Given the description of an element on the screen output the (x, y) to click on. 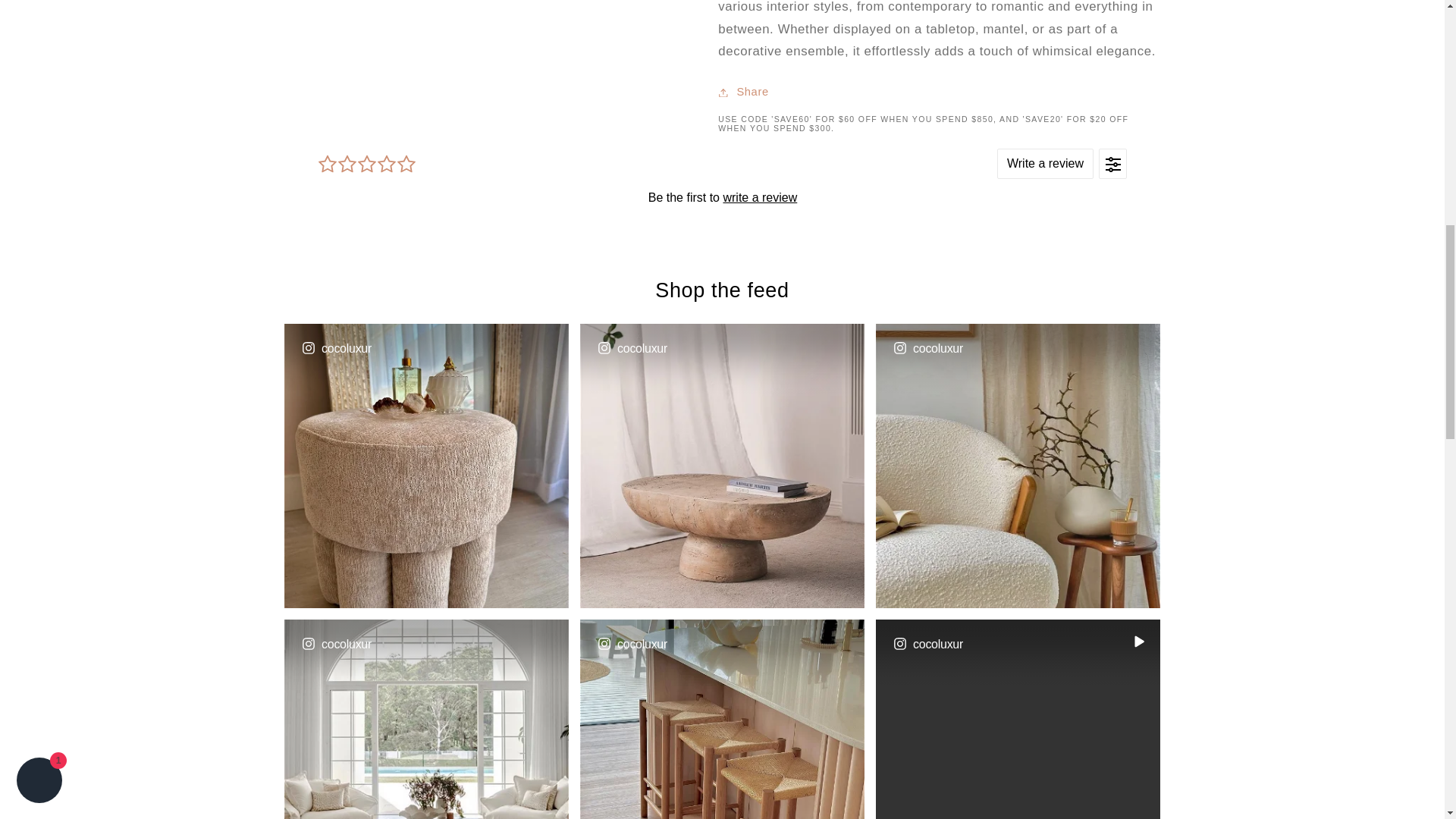
Product reviews widget (722, 196)
